Given the description of an element on the screen output the (x, y) to click on. 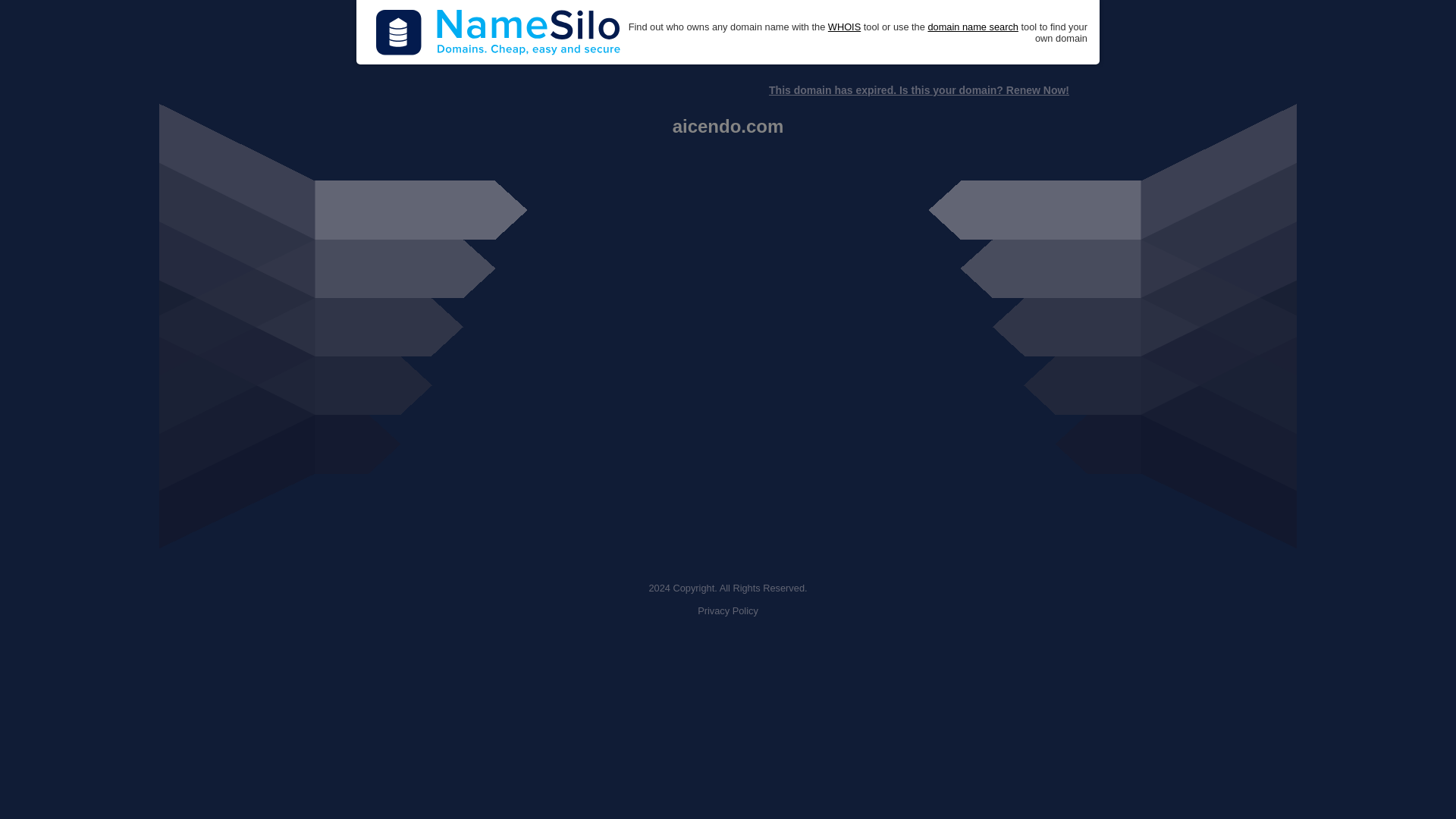
This domain has expired. Is this your domain? Renew Now! (918, 90)
WHOIS (844, 26)
Privacy Policy (727, 610)
domain name search (972, 26)
